Given the description of an element on the screen output the (x, y) to click on. 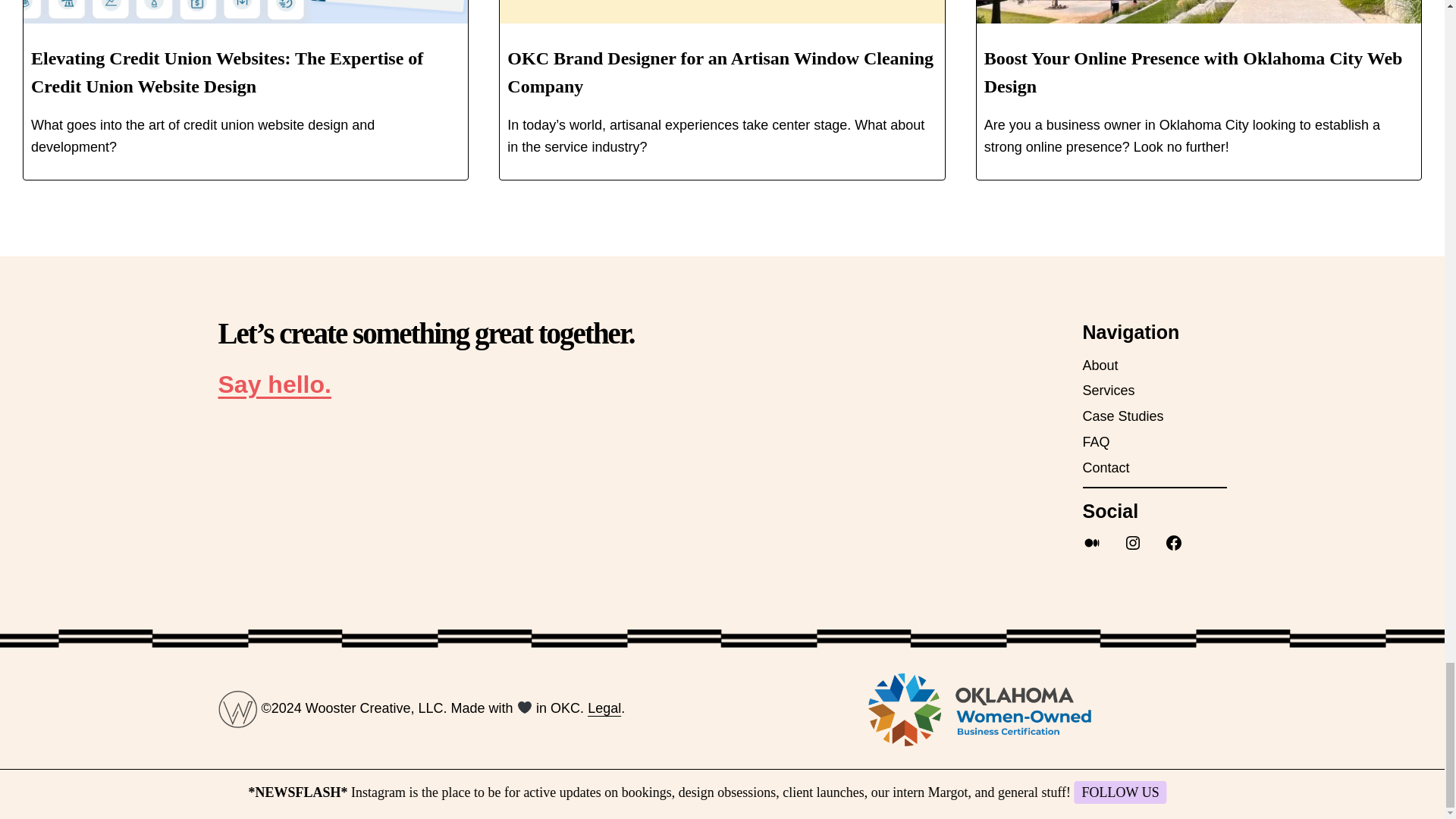
Services (1109, 391)
About (1100, 365)
FAQ (1096, 442)
Say hello. (274, 384)
Boost Your Online Presence with Oklahoma City Web Design (1193, 72)
OKC Brand Designer for an Artisan Window Cleaning Company (719, 72)
Case Studies (1123, 416)
